Given the description of an element on the screen output the (x, y) to click on. 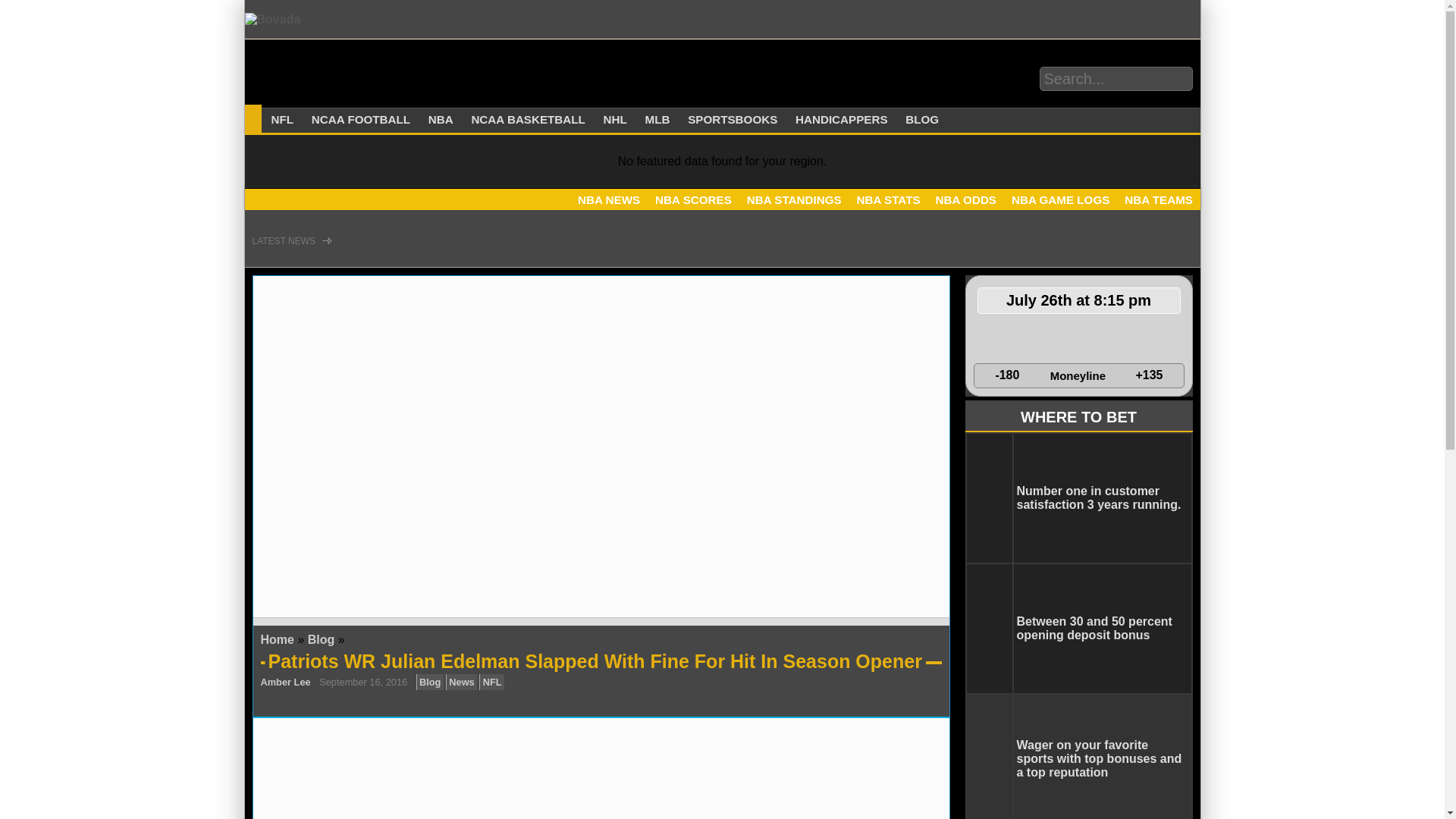
St. Louis Cardinals (1087, 338)
